Given the description of an element on the screen output the (x, y) to click on. 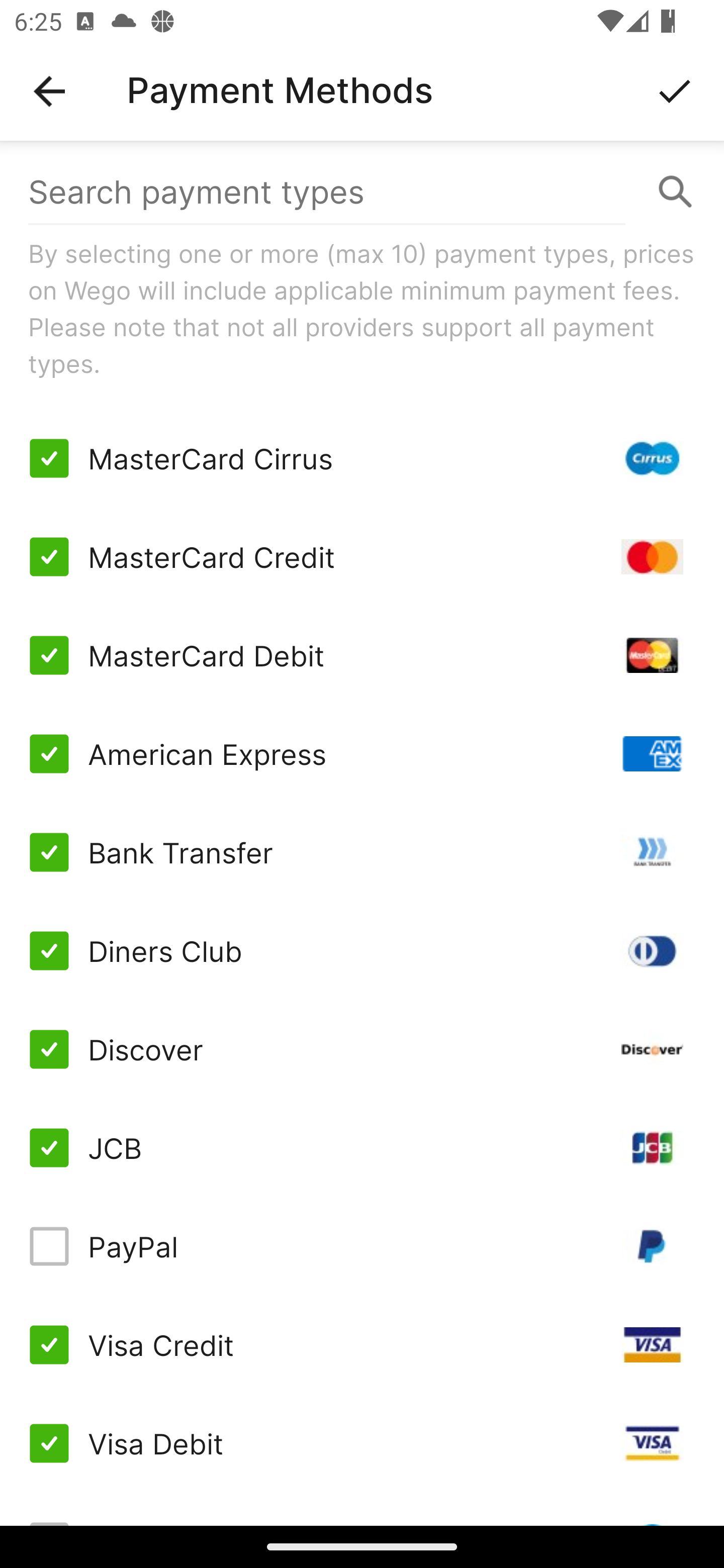
Search payment types  (361, 191)
MasterCard Cirrus (362, 458)
MasterCard Credit (362, 557)
MasterCard Debit (362, 655)
American Express (362, 753)
Bank Transfer (362, 851)
Diners Club (362, 950)
Discover (362, 1049)
JCB (362, 1147)
PayPal (362, 1245)
Visa Credit (362, 1344)
Visa Debit (362, 1442)
